Given the description of an element on the screen output the (x, y) to click on. 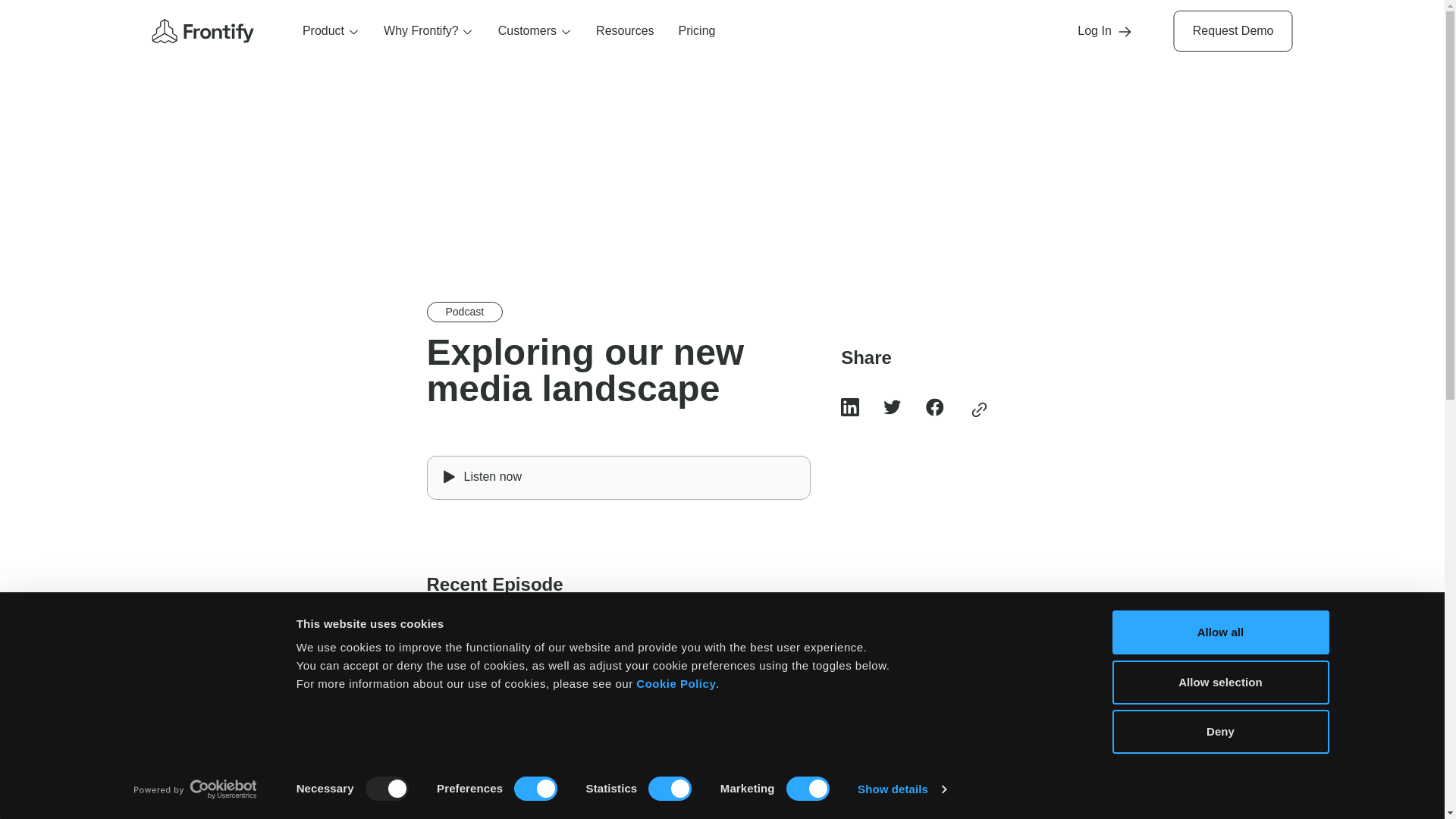
Cookie Policy (676, 683)
Show details (900, 789)
